Given the description of an element on the screen output the (x, y) to click on. 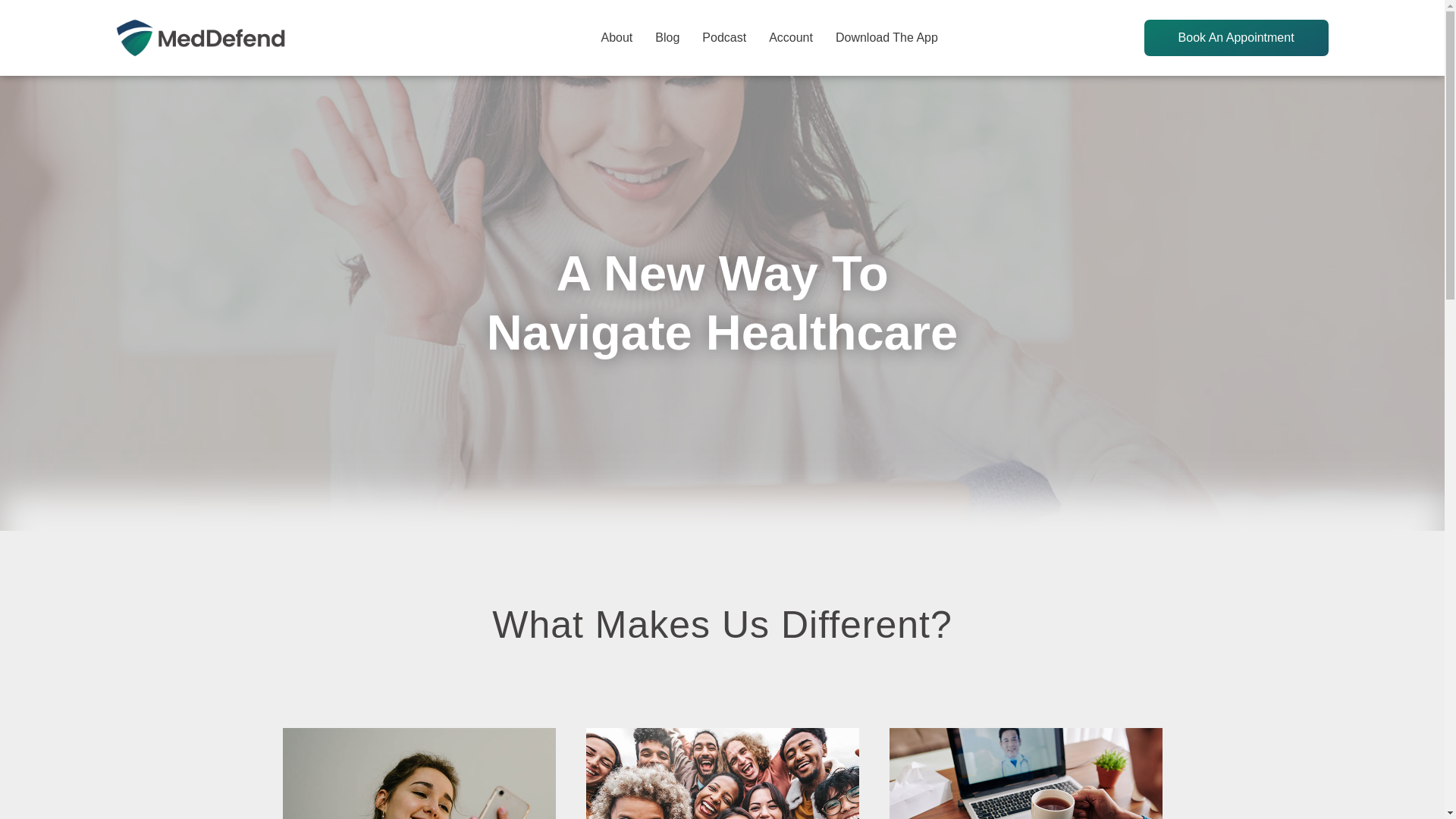
Download The App (886, 37)
Book An Appointment (1235, 37)
Podcast (723, 37)
Account (790, 37)
About (615, 37)
Blog (667, 37)
